Given the description of an element on the screen output the (x, y) to click on. 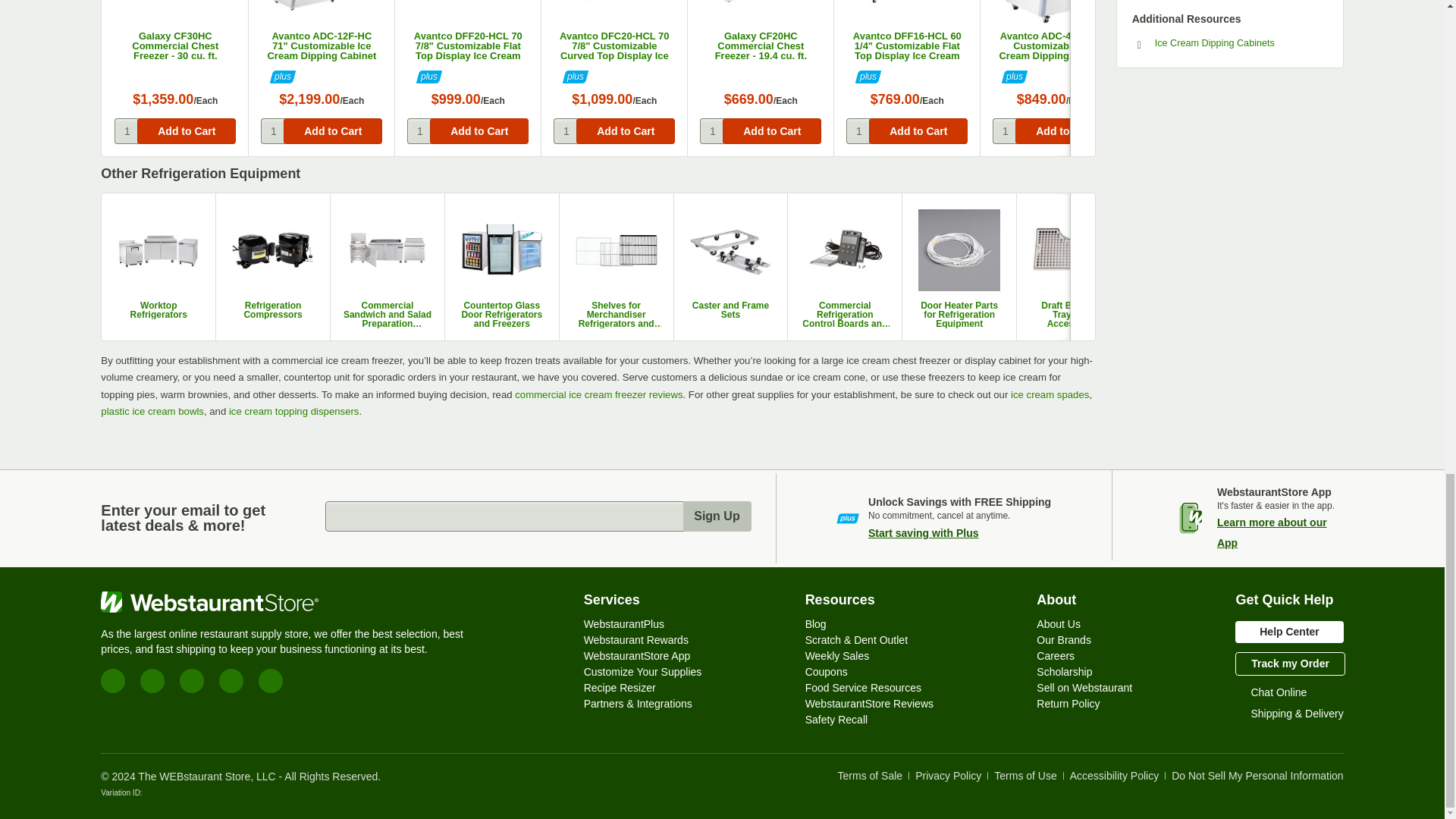
Refrigeration Compressors (272, 310)
Add to Cart (1356, 130)
Add to Cart (771, 130)
1 (272, 130)
Refrigeration Compressors (272, 266)
Add to Cart (1210, 130)
Food Truck Refrigeration (1187, 310)
Commercial Sandwich and Salad Preparation Refrigerators (387, 314)
Ice Cream Dipping Cabinets (1229, 43)
Add to Cart (625, 130)
1 (565, 130)
Shelves for Merchandiser Refrigerators and Freezers (616, 314)
Caster and Frame Sets (730, 310)
Worktop Refrigerators (158, 310)
